Given the description of an element on the screen output the (x, y) to click on. 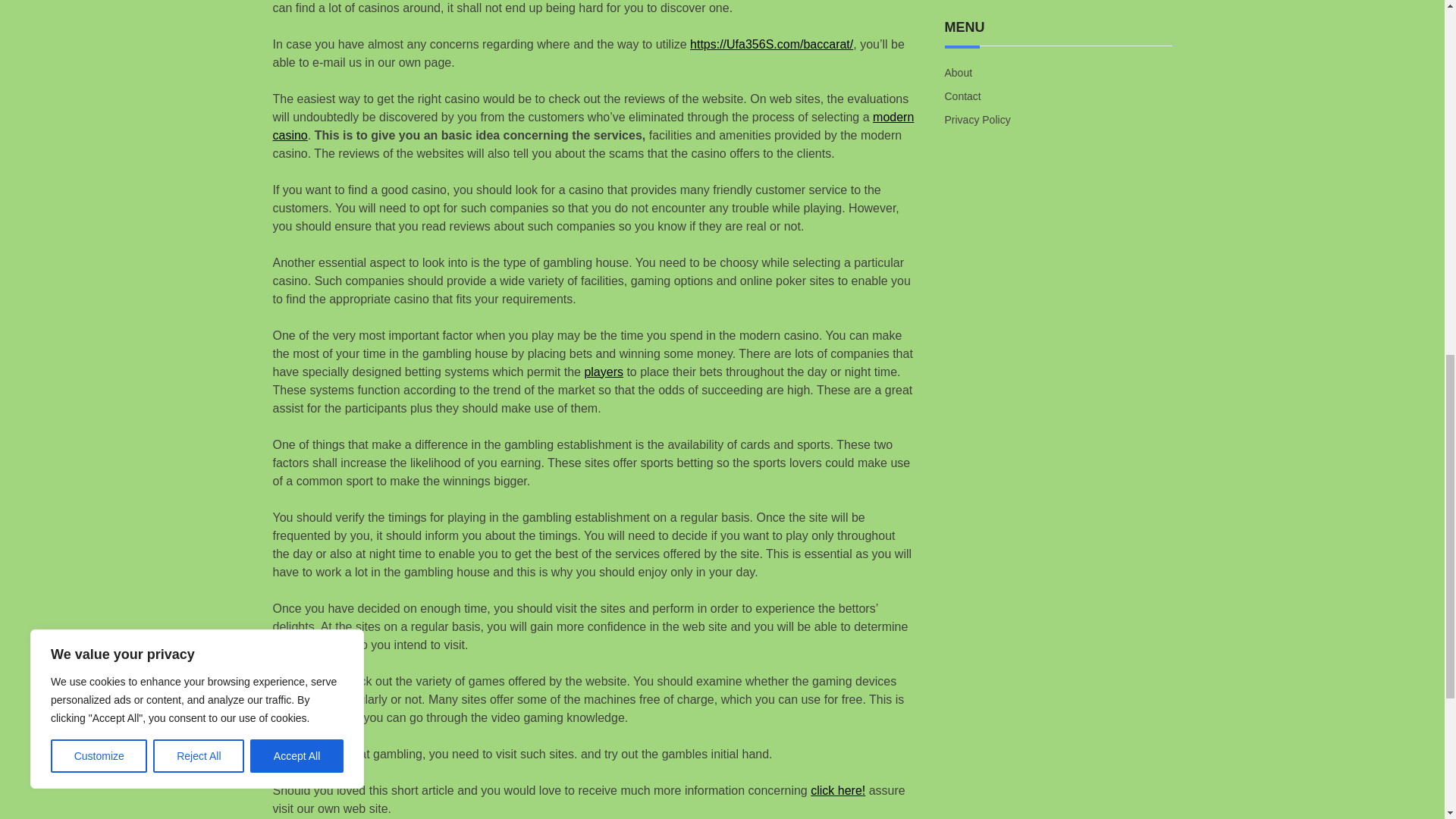
click here! (837, 789)
players (603, 371)
modern casino (593, 125)
